Given the description of an element on the screen output the (x, y) to click on. 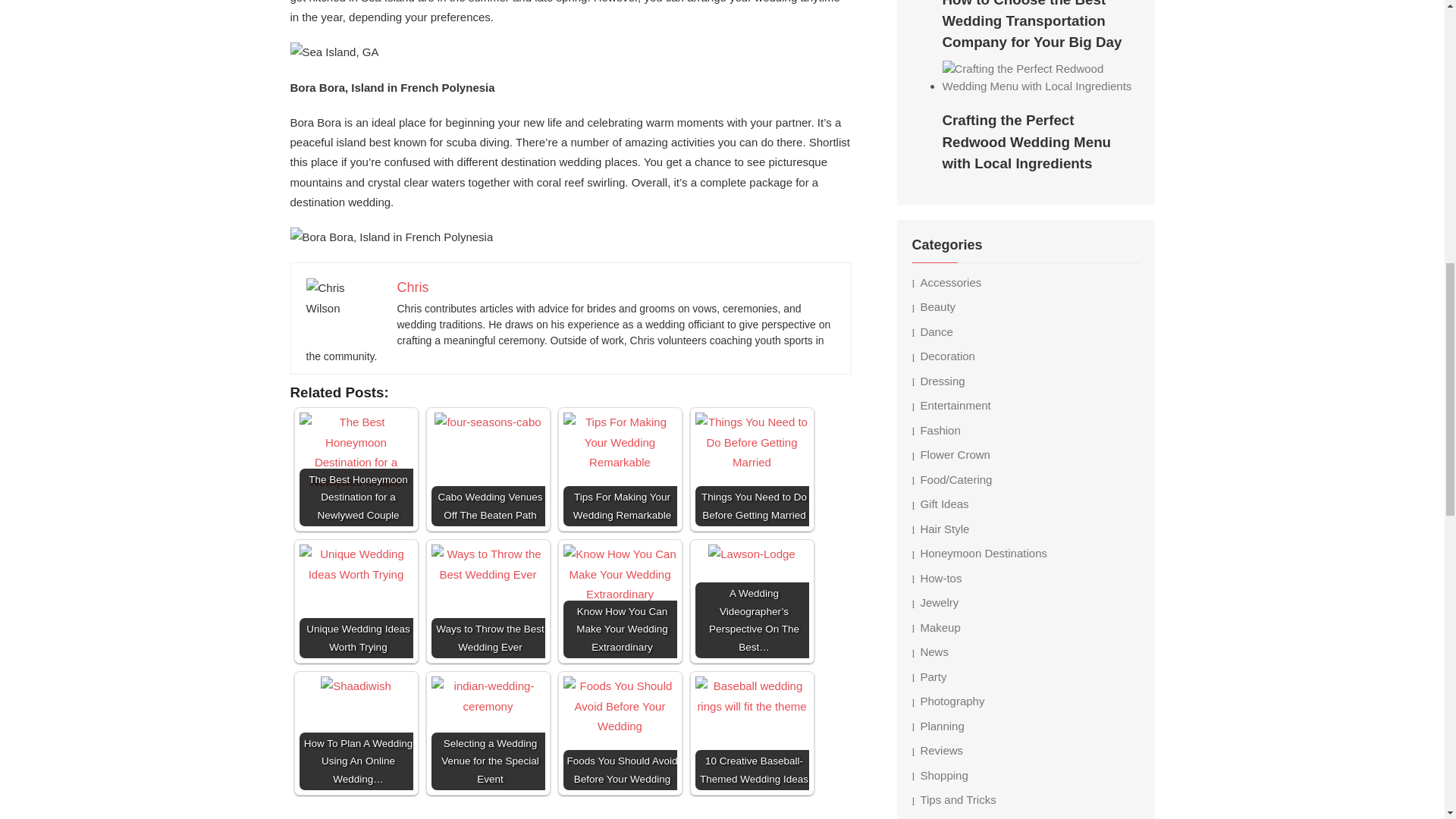
Cabo Wedding Venues Off The Beaten Path (486, 422)
Chris Wilson (343, 298)
Bora Bora Island in French Polynesia (391, 237)
Know How You Can Make Your Wedding Extraordinary (619, 574)
The Best Honeymoon Destination for a Newlywed Couple (355, 452)
Sea Island GA (333, 52)
Unique Wedding Ideas Worth Trying (355, 564)
Things You Need to Do Before Getting Married (751, 442)
Ways to Throw the Best Wedding Ever (487, 564)
Tips For Making Your Wedding Remarkable (619, 442)
